Given the description of an element on the screen output the (x, y) to click on. 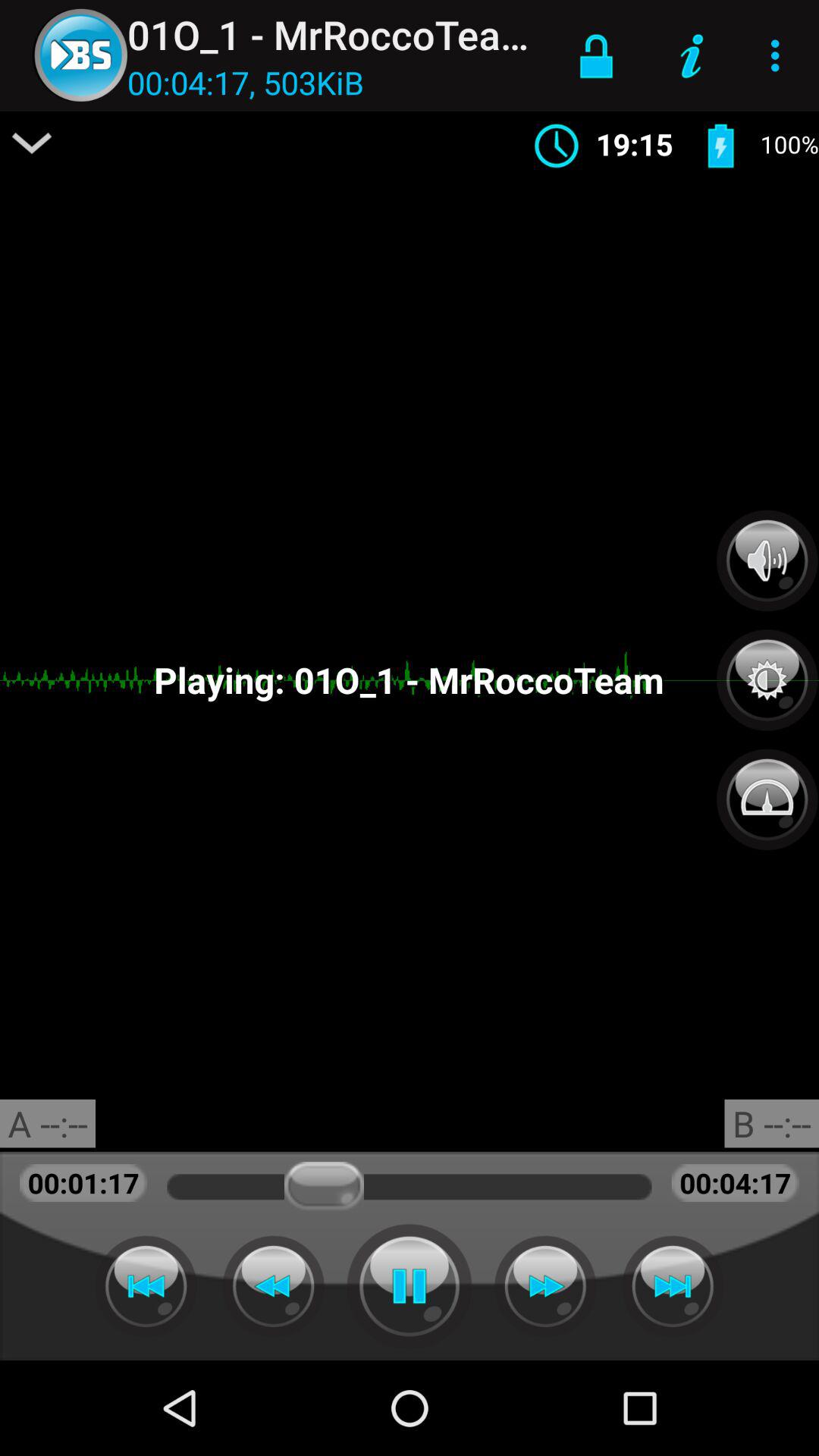
fast forward track (545, 1286)
